Given the description of an element on the screen output the (x, y) to click on. 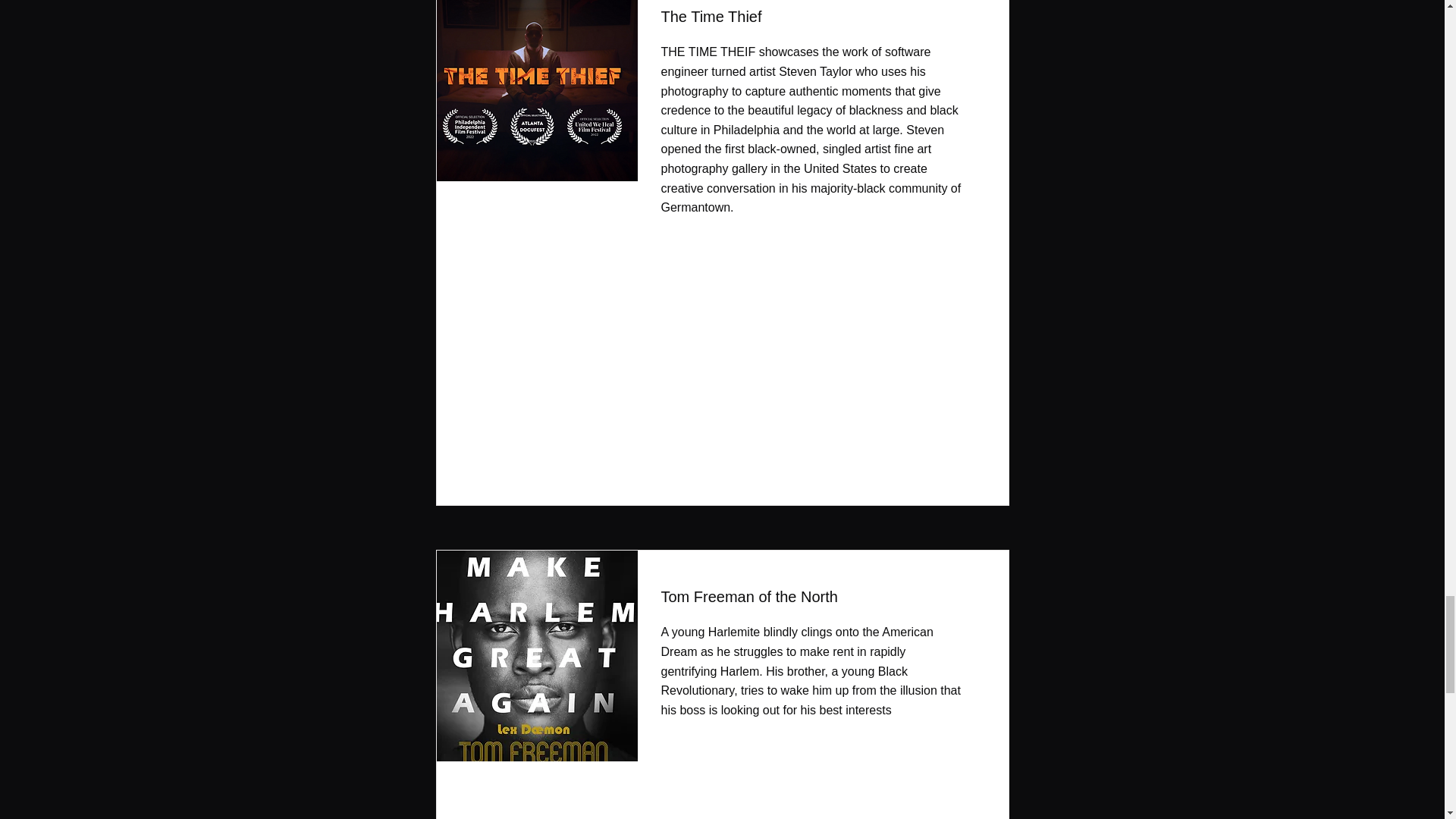
Tom Freeman Official Poster 2.jpg (531, 655)
